Given the description of an element on the screen output the (x, y) to click on. 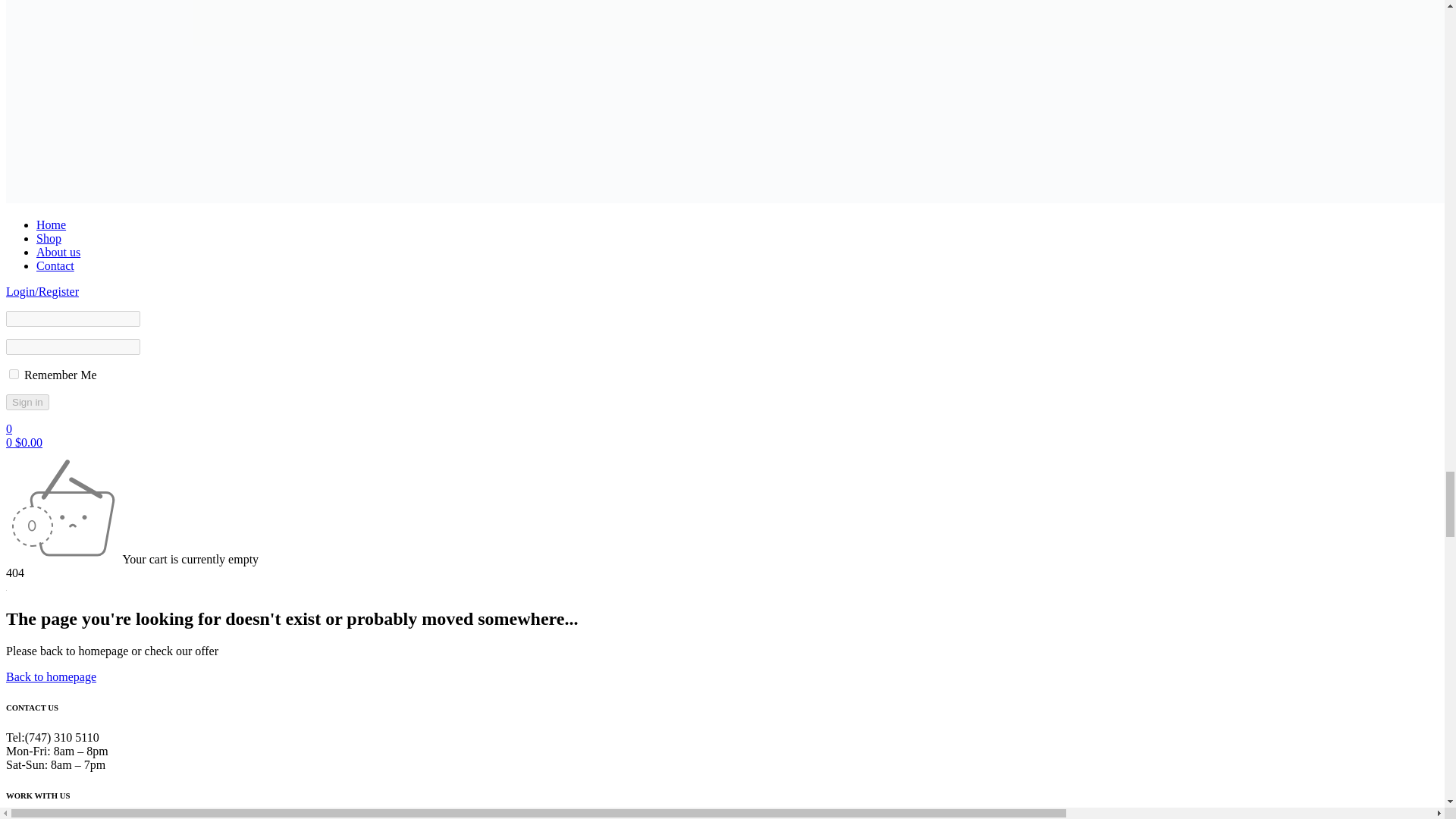
Back to homepage (50, 676)
forever (13, 374)
About us (58, 251)
Contact (55, 265)
My Account (41, 291)
Sign in (27, 401)
Sign in (27, 401)
Shop (48, 237)
Home (50, 224)
View your shopping cart (23, 441)
